Given the description of an element on the screen output the (x, y) to click on. 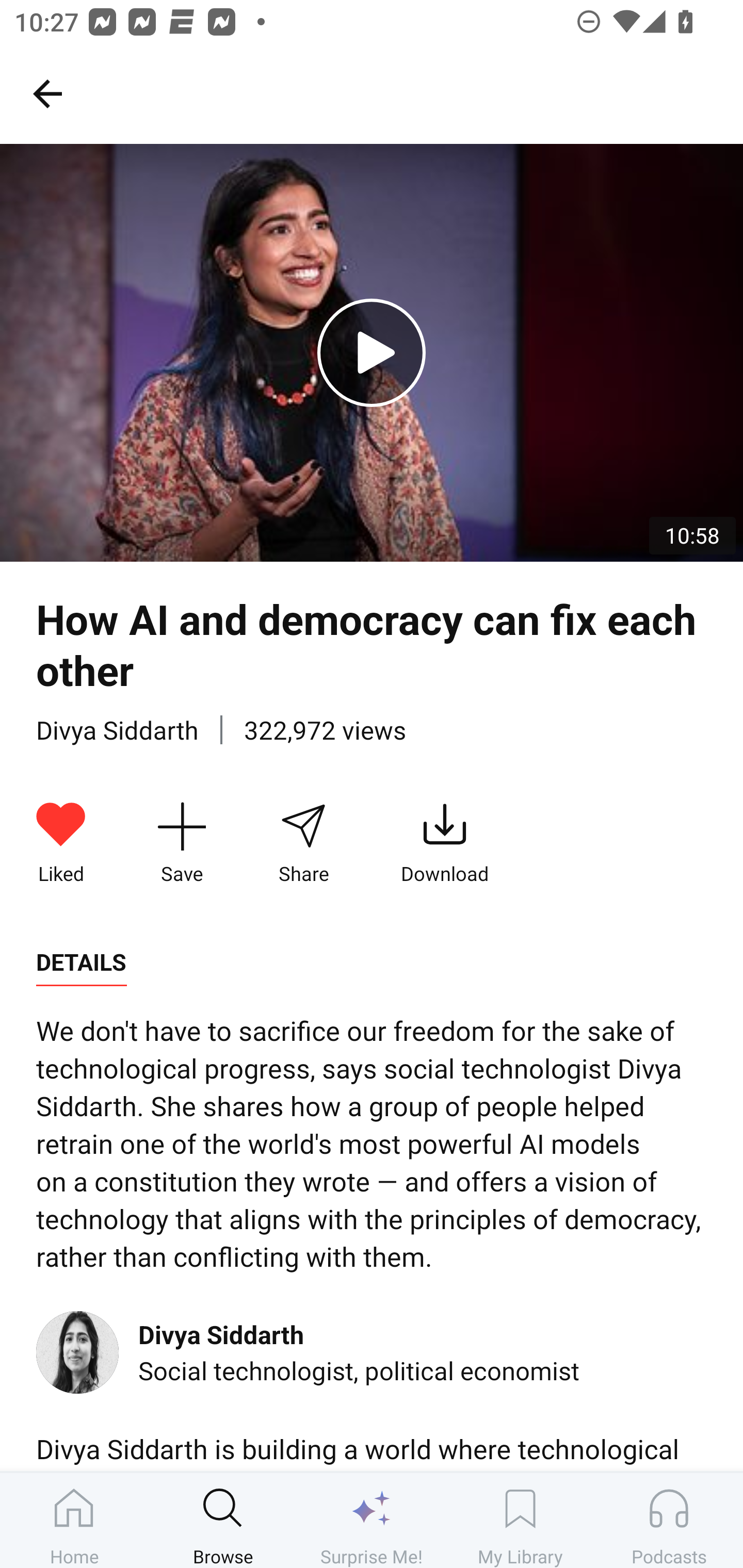
Search, back (47, 92)
Liked (60, 843)
Save (181, 843)
Share (302, 843)
Download (444, 843)
DETAILS (80, 962)
Home (74, 1520)
Browse (222, 1520)
Surprise Me! (371, 1520)
My Library (519, 1520)
Podcasts (668, 1520)
